Given the description of an element on the screen output the (x, y) to click on. 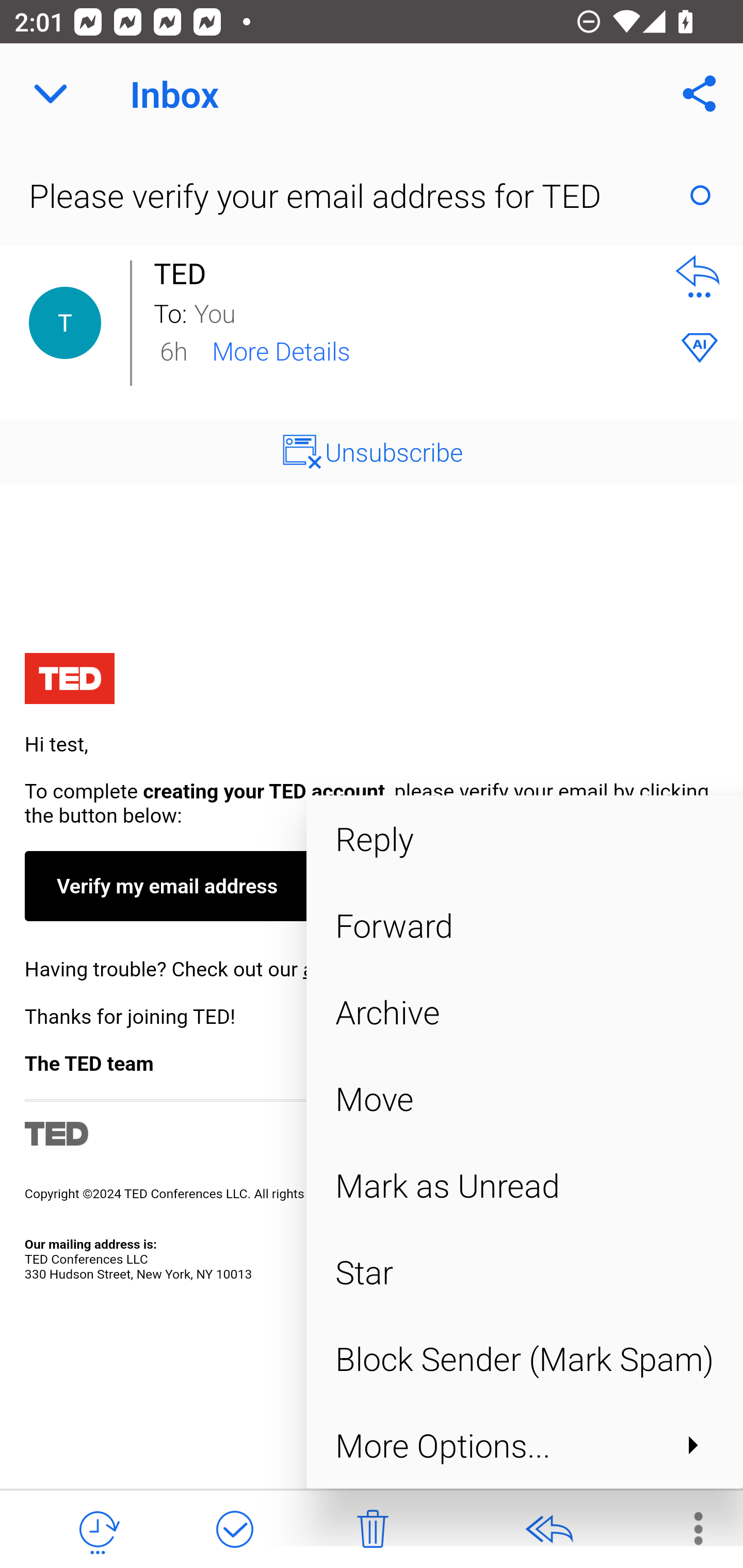
Reply (524, 837)
Forward (524, 925)
Archive (524, 1012)
Move (524, 1098)
Mark as Unread (524, 1185)
Star (524, 1272)
Block Sender (Mark Spam) (524, 1358)
More Options... (524, 1444)
